Given the description of an element on the screen output the (x, y) to click on. 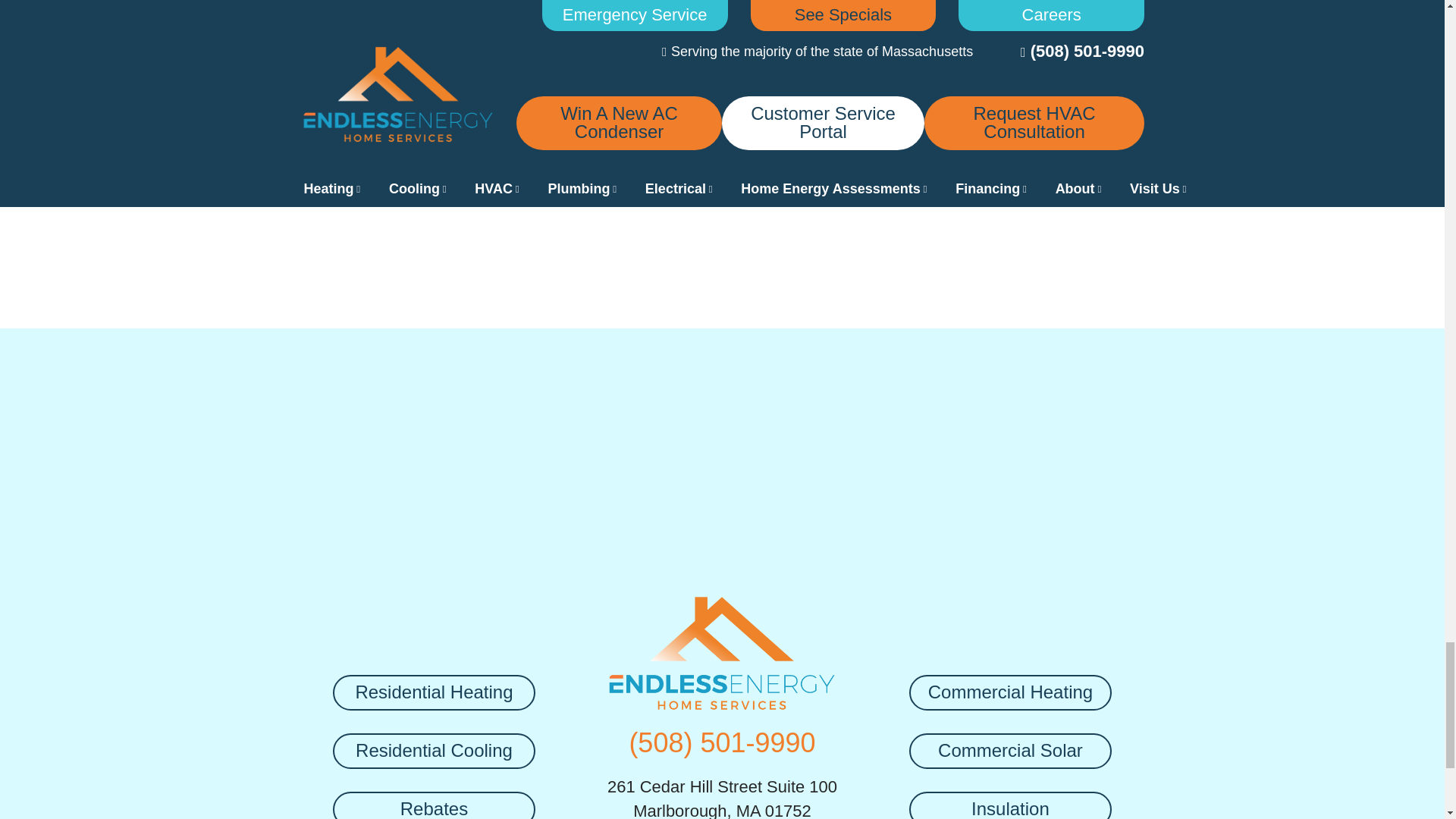
Endless Energy (721, 652)
